Given the description of an element on the screen output the (x, y) to click on. 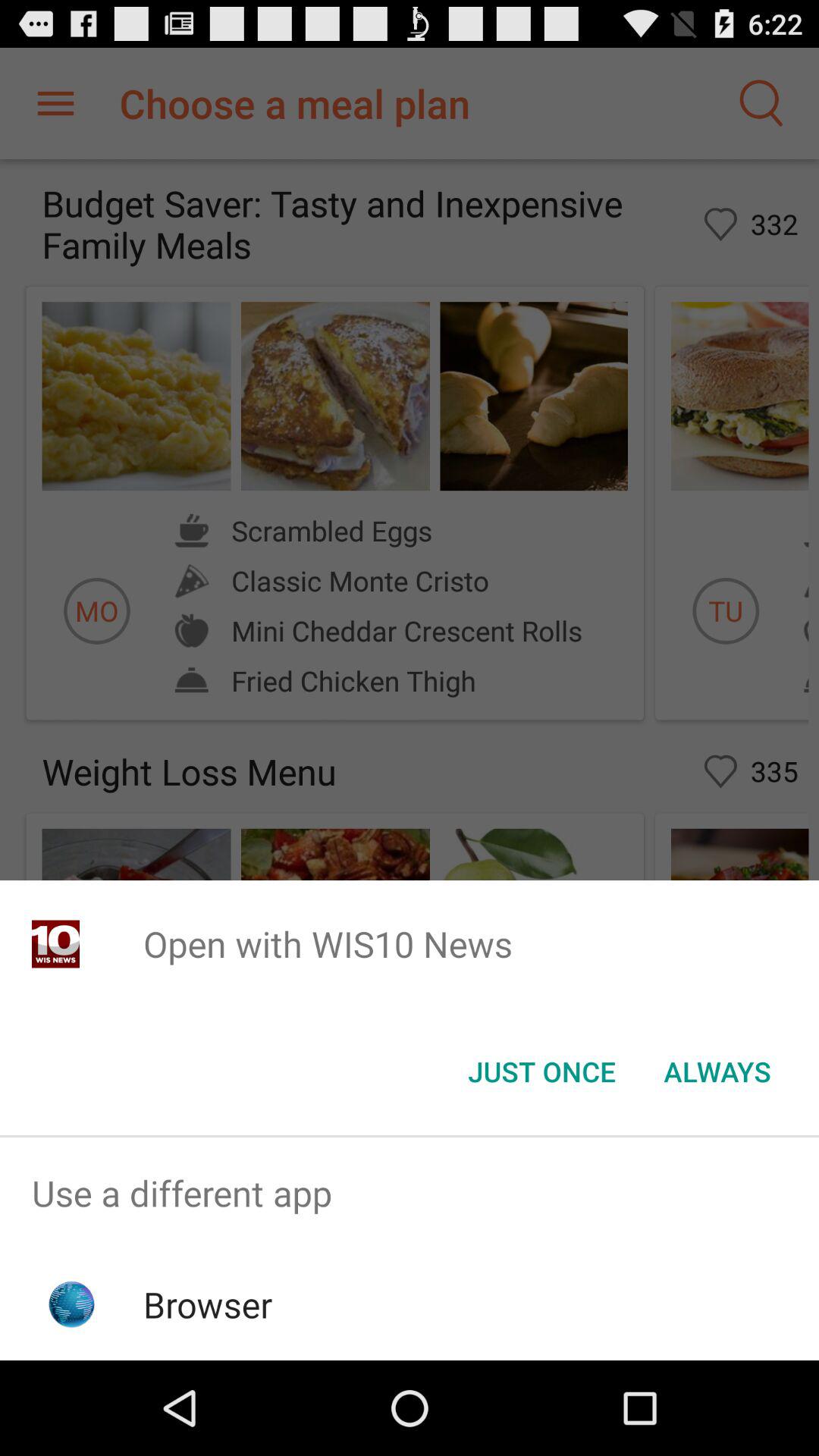
turn off the icon to the left of the always button (541, 1071)
